Given the description of an element on the screen output the (x, y) to click on. 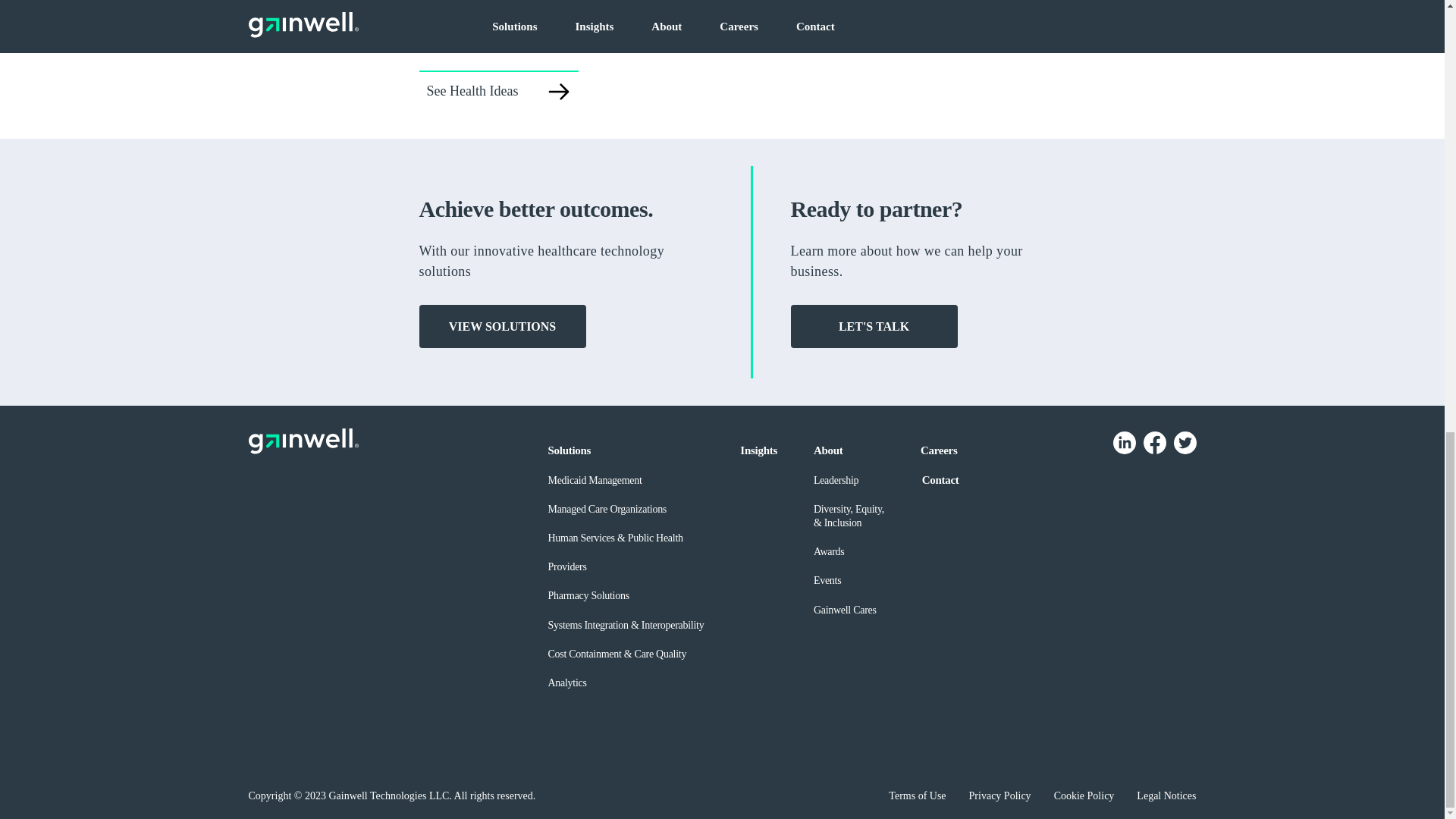
Medicaid Management (594, 480)
See Health Ideas (498, 90)
Insights (758, 450)
LET'S TALK (873, 326)
VIEW SOLUTIONS (502, 326)
Pharmacy Solutions (587, 595)
Analytics (566, 682)
Managed Care Organizations (606, 509)
Solutions (569, 450)
Providers (566, 566)
